Given the description of an element on the screen output the (x, y) to click on. 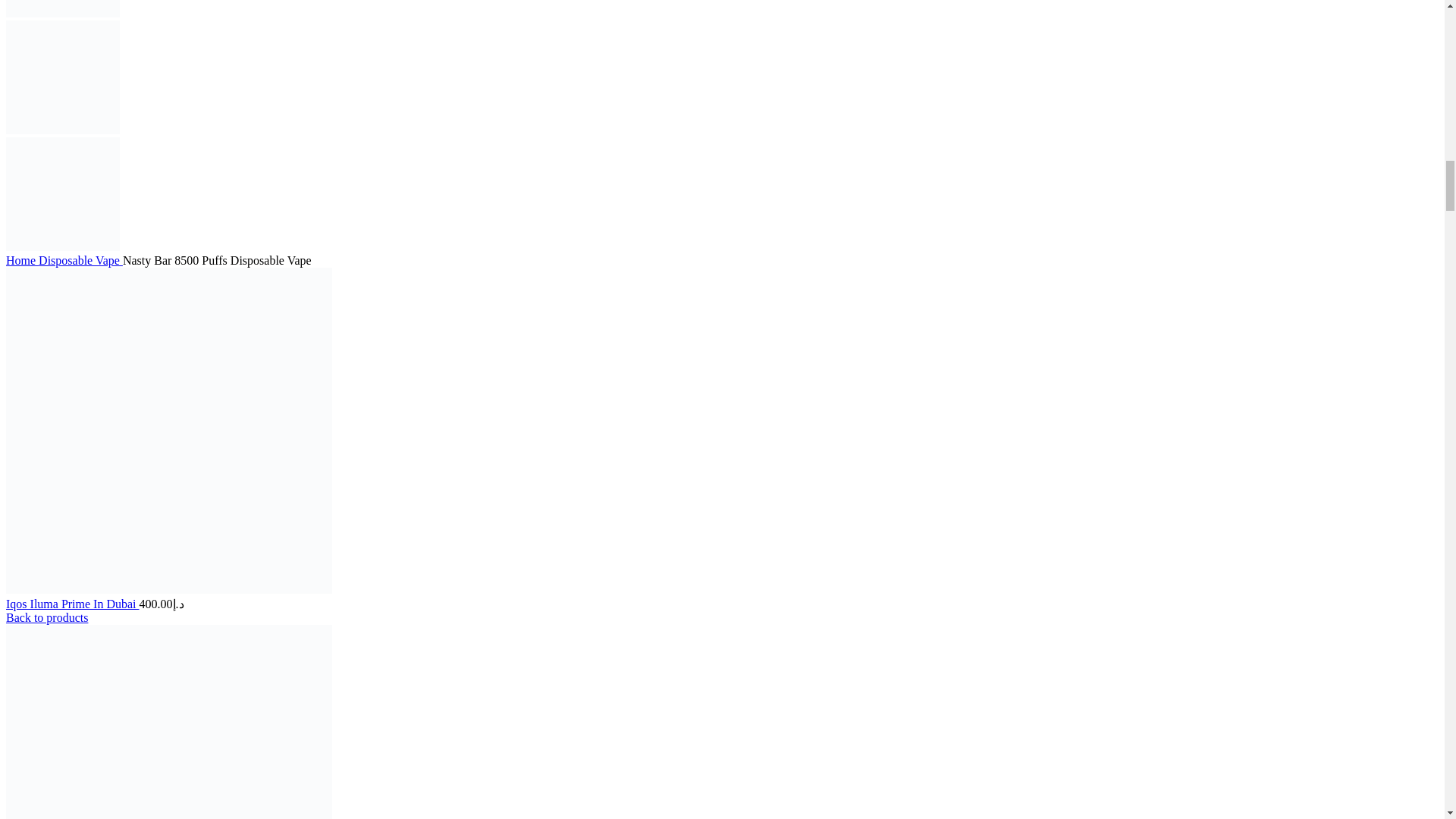
Disposable Vape (80, 259)
Iqos Iluma Prime In Dubai (72, 603)
Back to products (46, 617)
Home (22, 259)
